Given the description of an element on the screen output the (x, y) to click on. 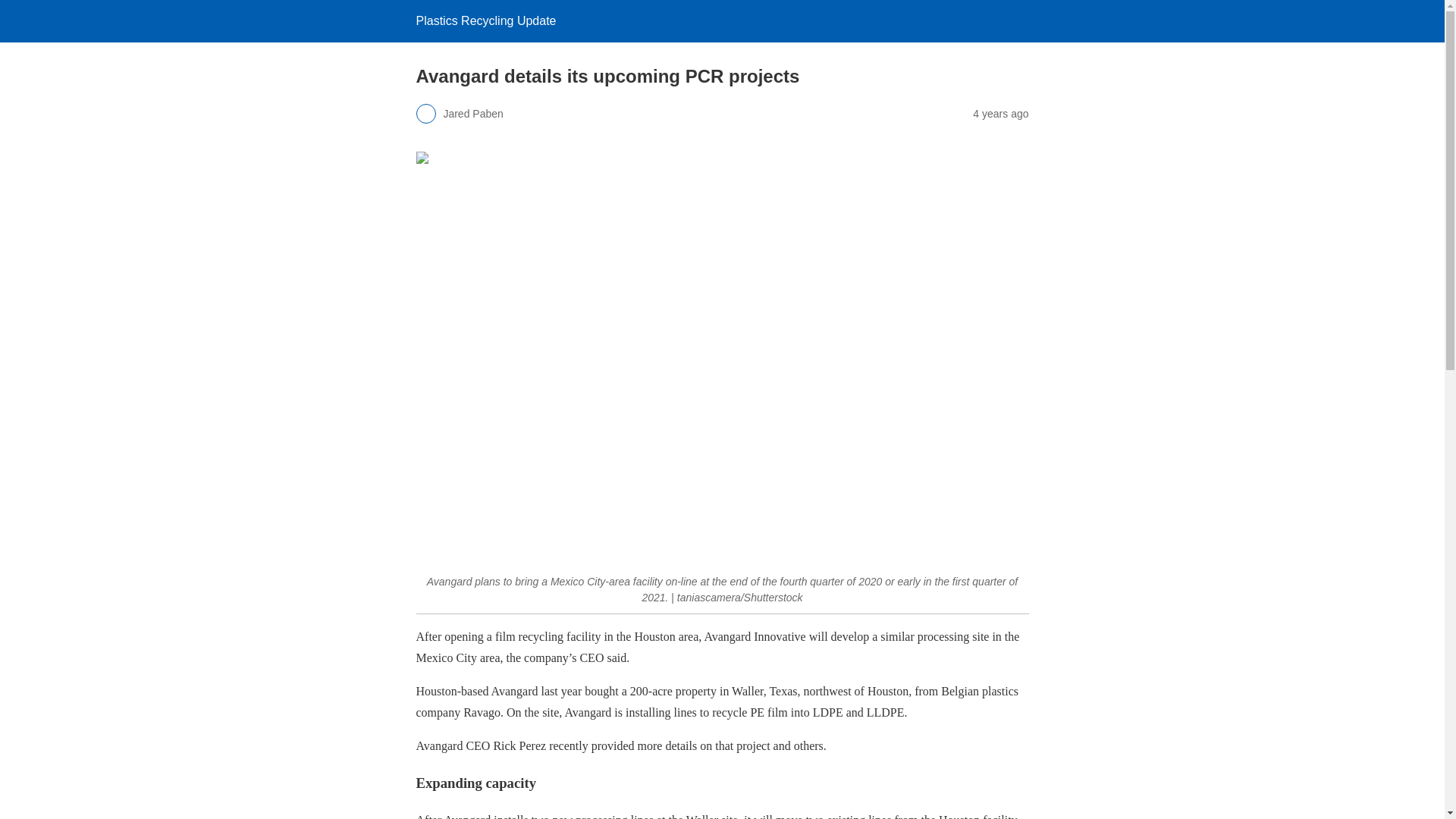
Plastics Recycling Update (485, 20)
